Given the description of an element on the screen output the (x, y) to click on. 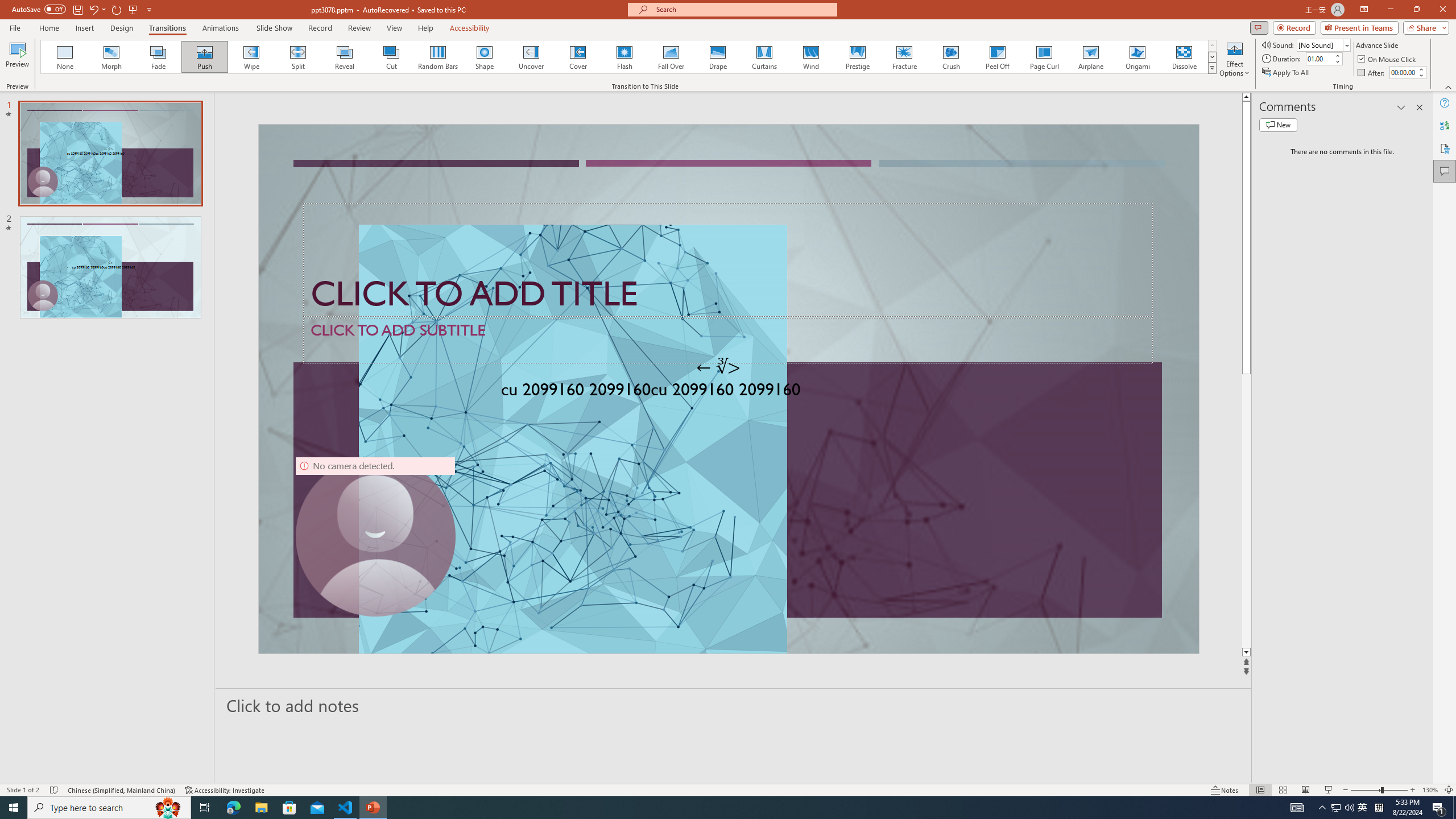
Dissolve (1183, 56)
Restore Down (1416, 9)
TextBox 61 (726, 391)
Transitions (167, 28)
An abstract genetic concept (728, 388)
Less (1420, 75)
Uncover (531, 56)
Fade (158, 56)
Fracture (903, 56)
Slide Notes (733, 705)
File Tab (15, 27)
Minimize (1390, 9)
